Given the description of an element on the screen output the (x, y) to click on. 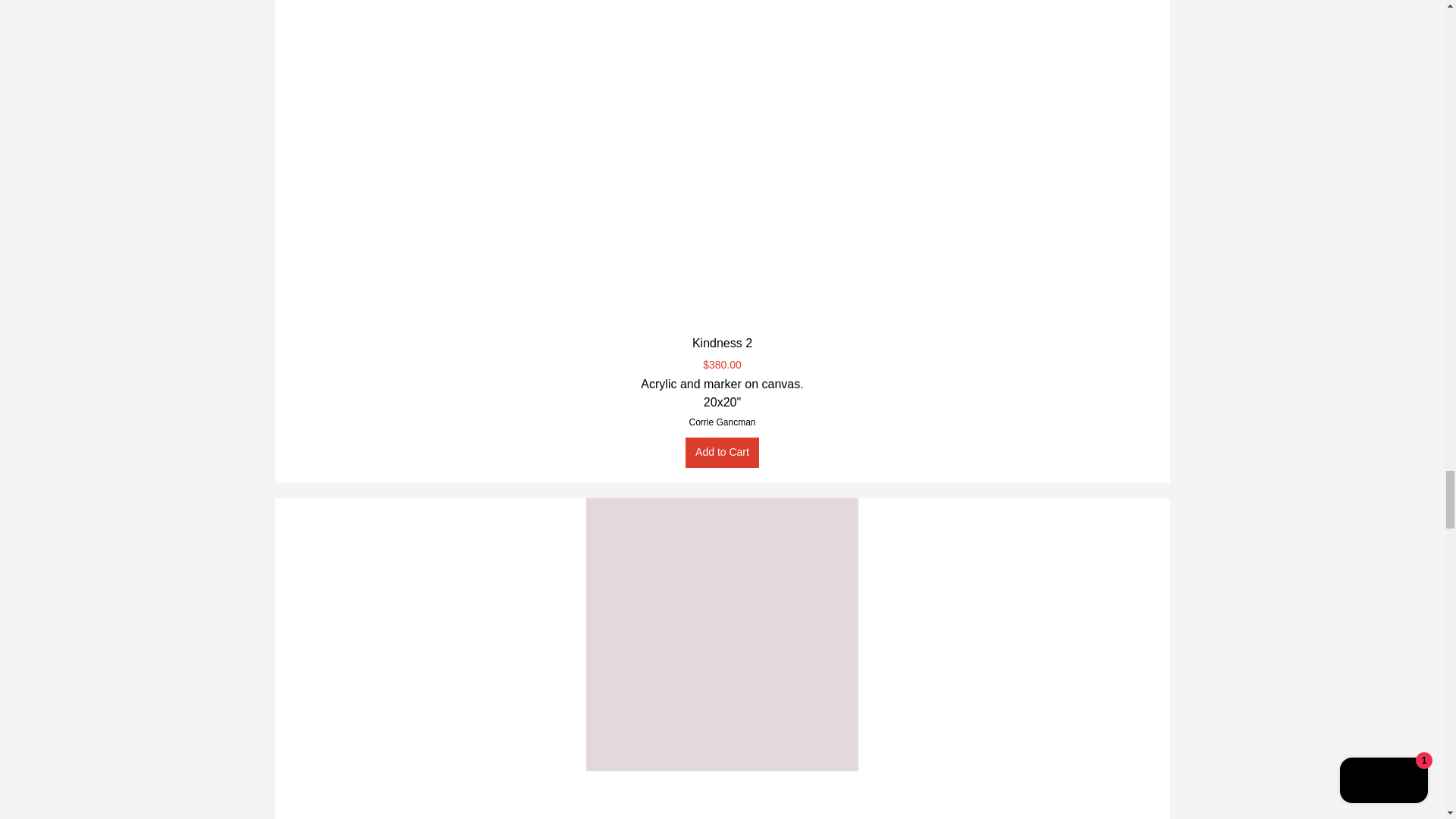
Add to Cart (721, 452)
